Given the description of an element on the screen output the (x, y) to click on. 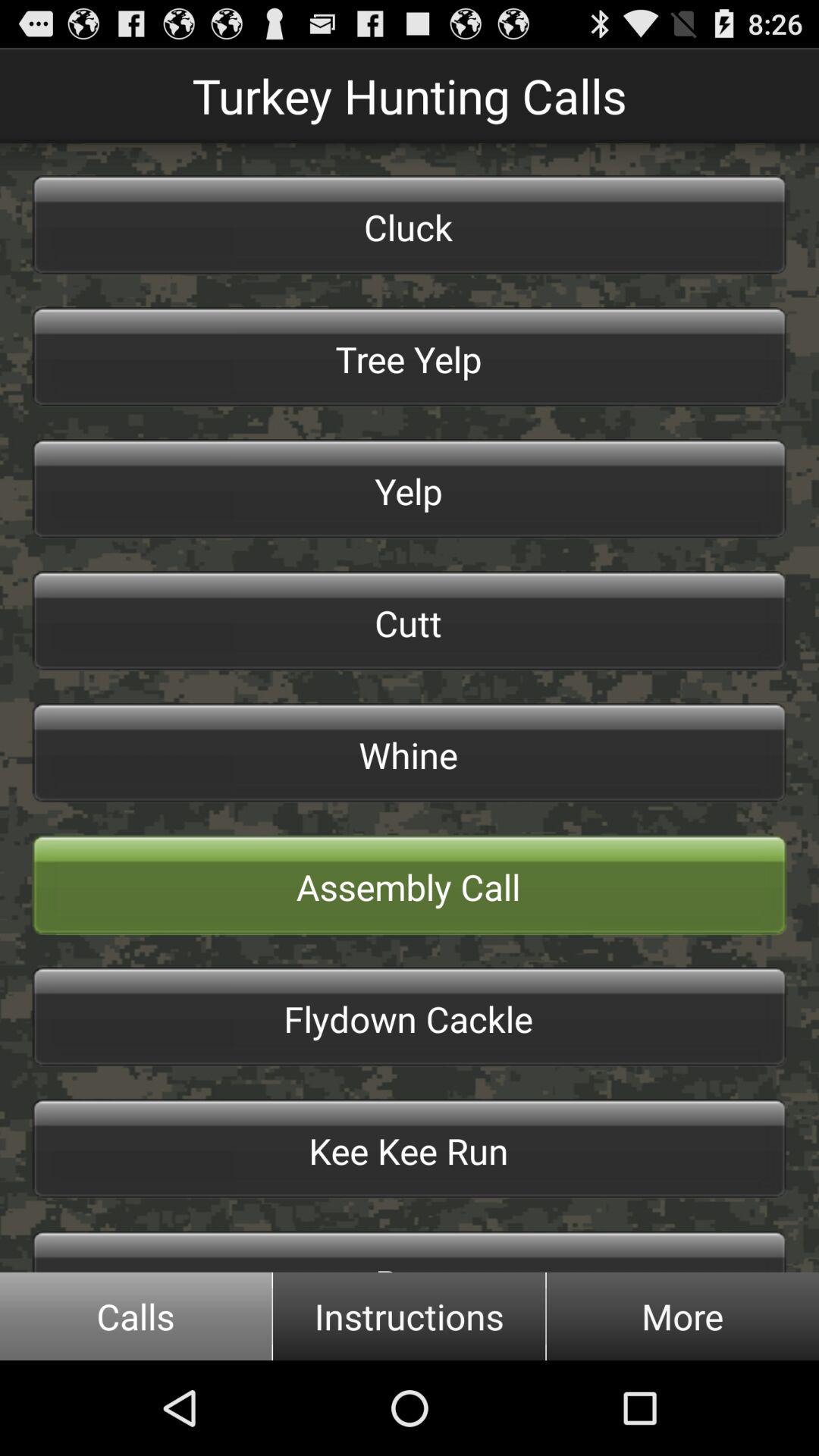
turn on the button above the tree yelp button (409, 225)
